Given the description of an element on the screen output the (x, y) to click on. 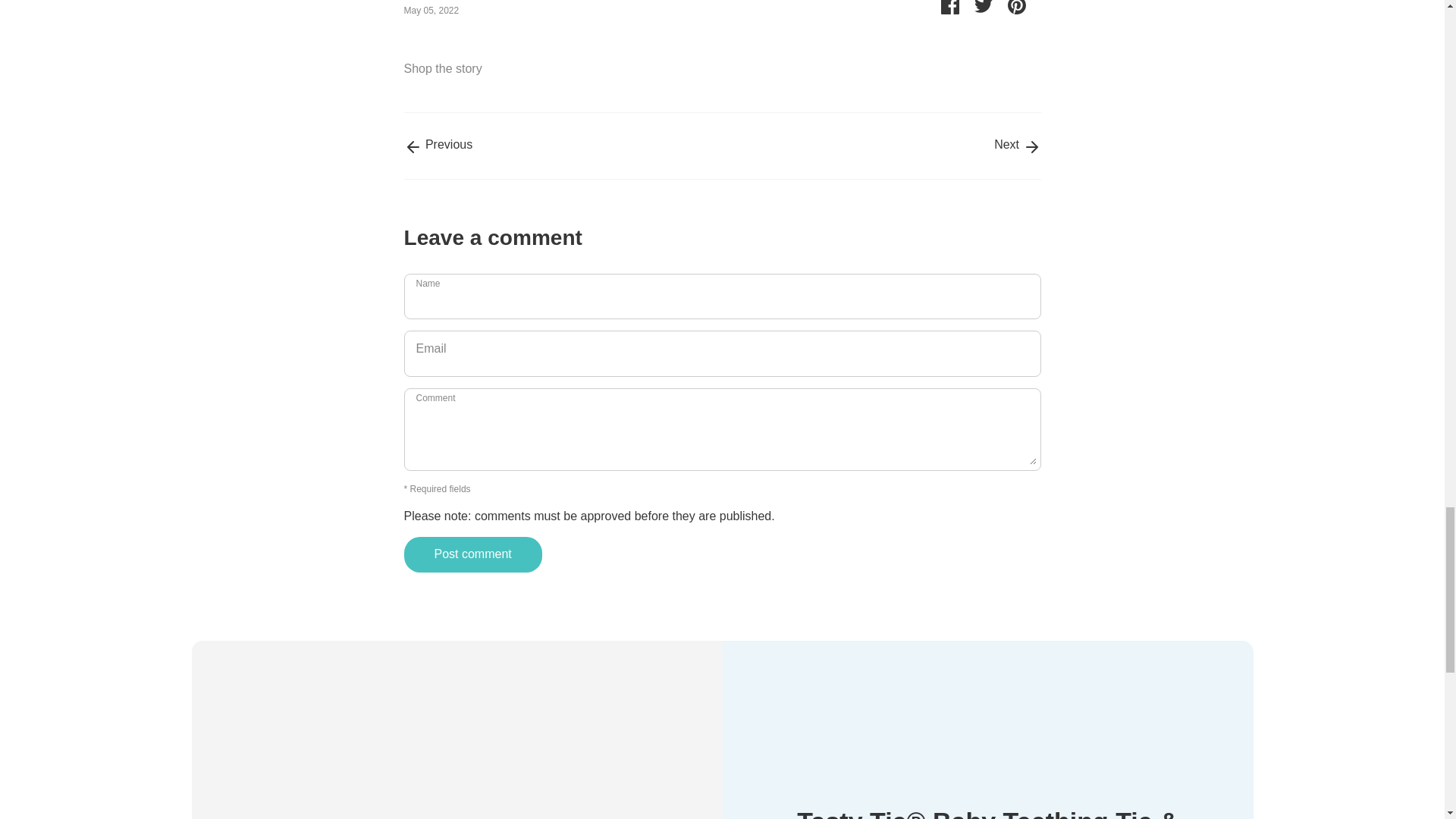
Post comment (472, 553)
